Given the description of an element on the screen output the (x, y) to click on. 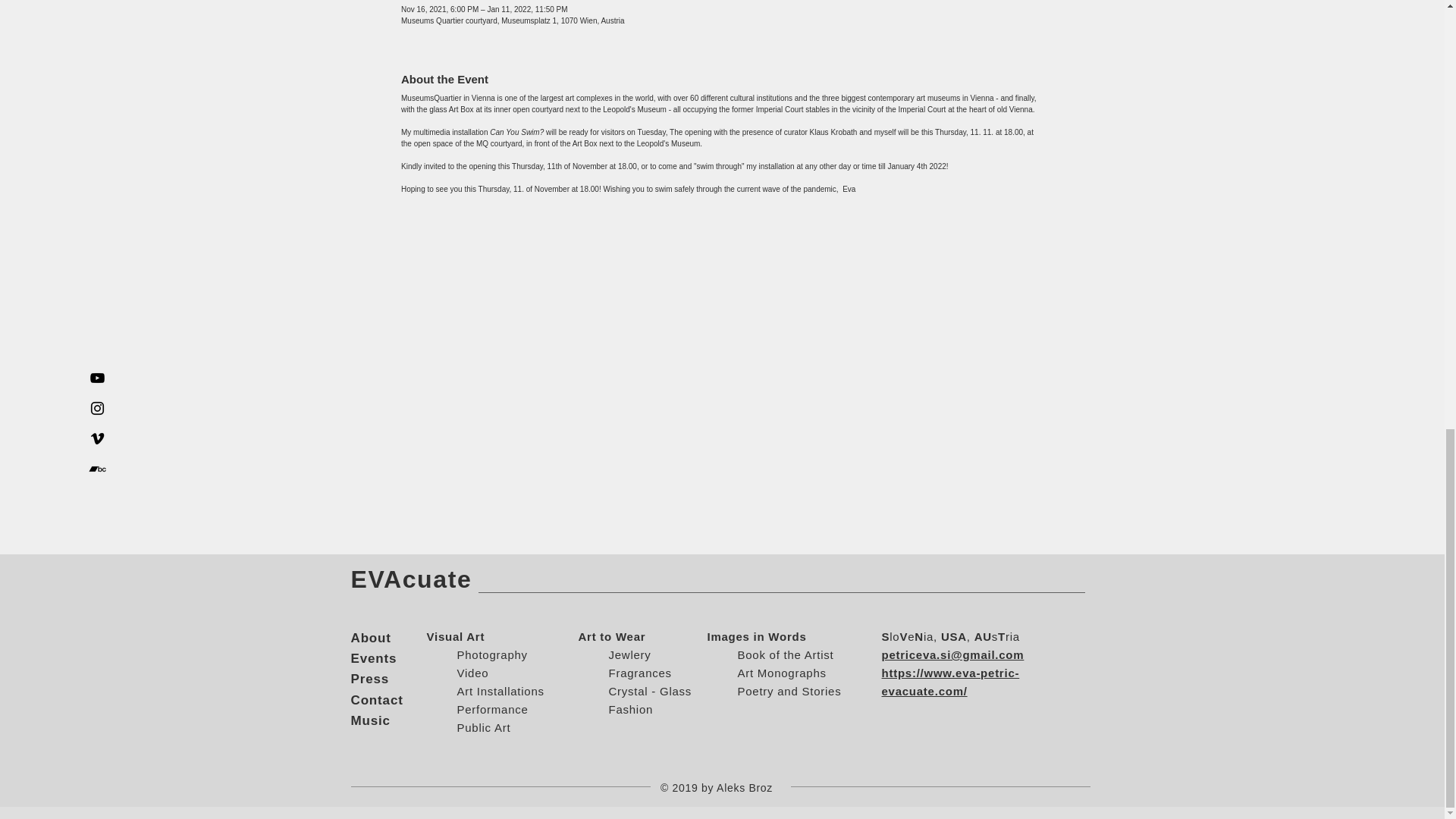
EVAcuate (410, 578)
Contact (376, 699)
About (370, 637)
Music (370, 720)
Press (369, 678)
Images in Words (756, 635)
Performance (492, 708)
Jewlery (629, 654)
Fashion (630, 708)
Book of the Artist (784, 654)
